Given the description of an element on the screen output the (x, y) to click on. 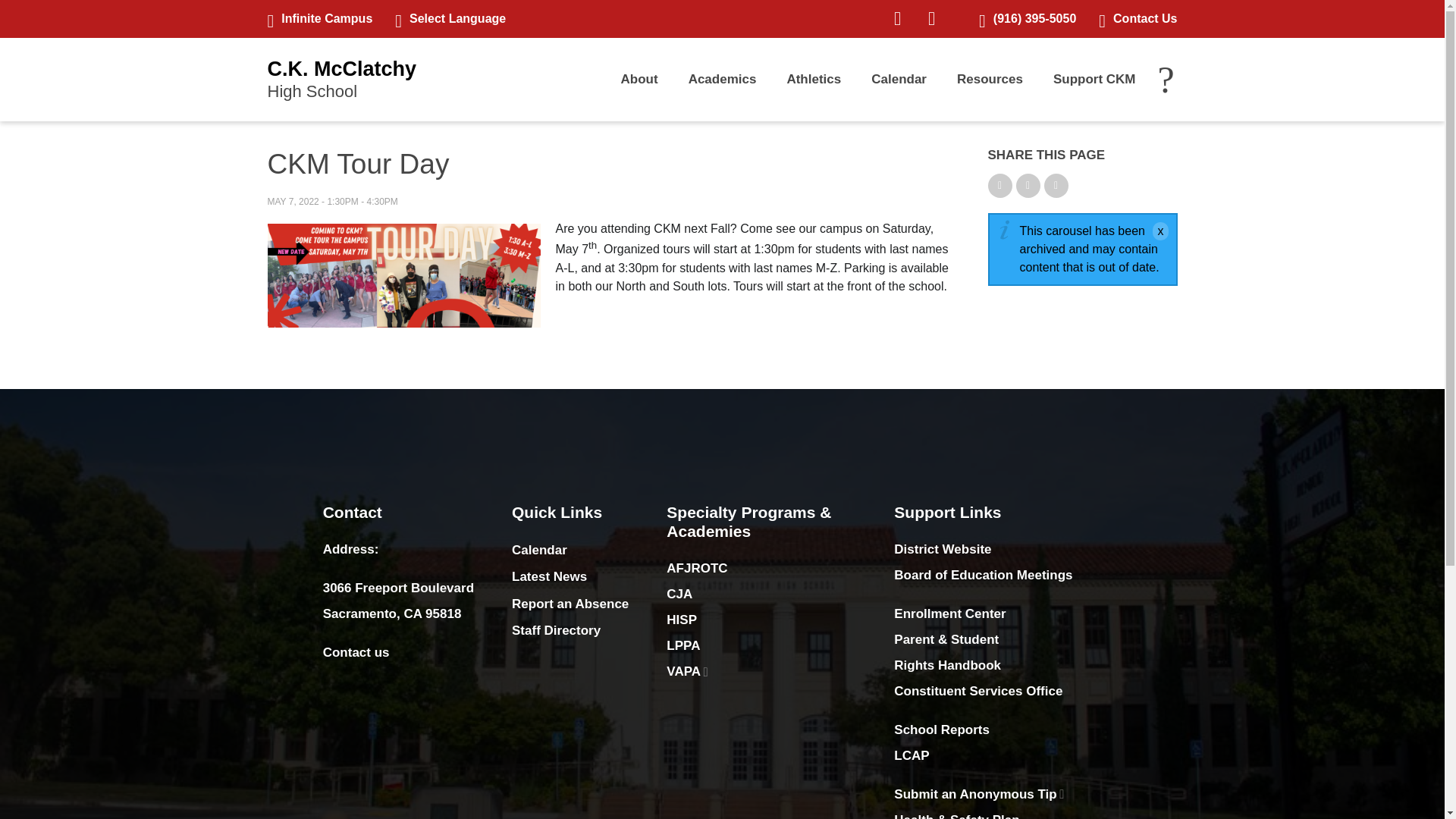
Back to home (341, 78)
Infinite Campus (341, 78)
Facebook (319, 18)
Twitter (897, 18)
Contact Us (931, 18)
